Given the description of an element on the screen output the (x, y) to click on. 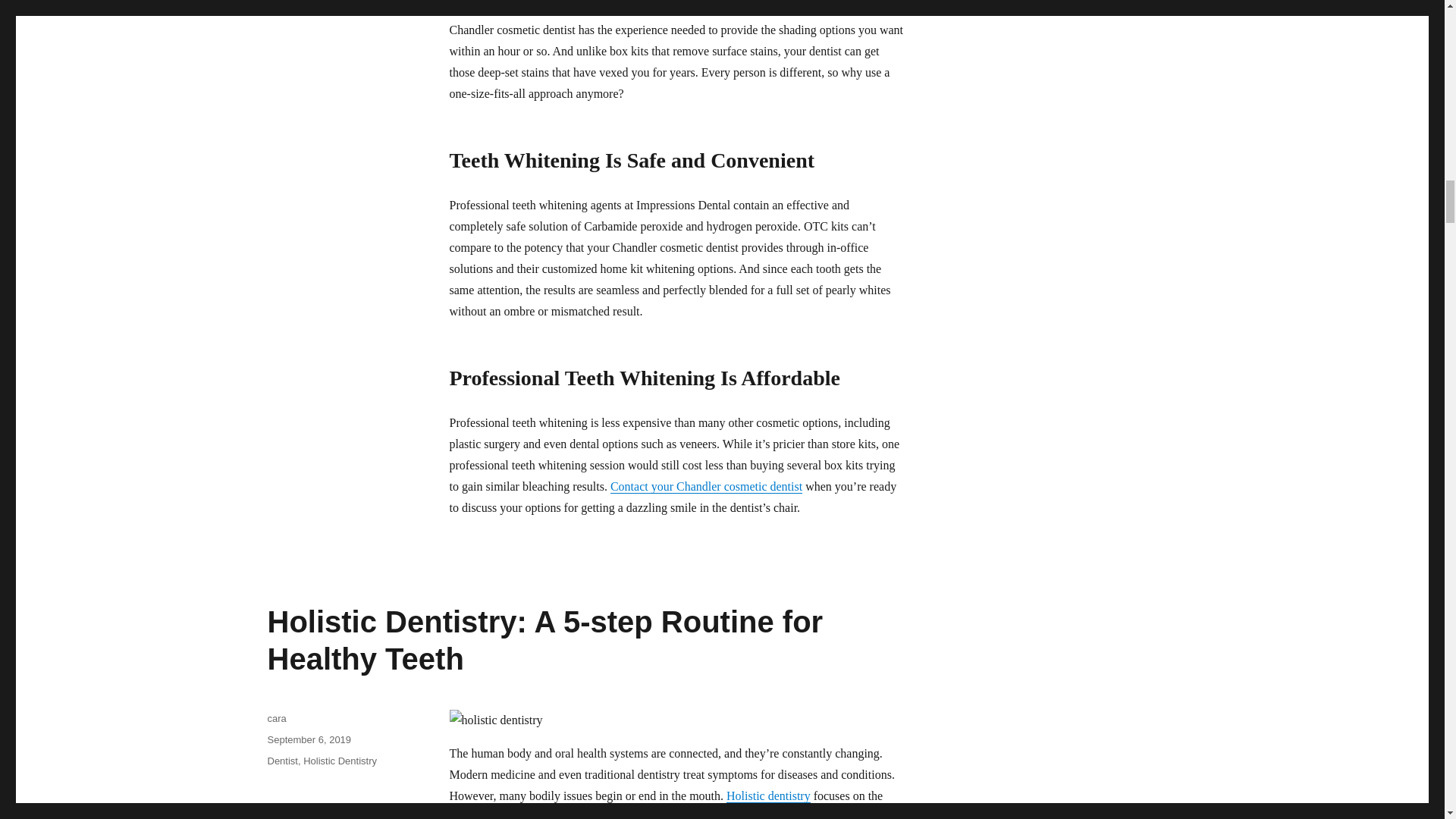
Holistic Dentistry (339, 760)
Holistic Dentistry: A 5-step Routine for Healthy Teeth (544, 640)
cara (275, 717)
Dentist (281, 760)
September 6, 2019 (308, 739)
Holistic dentistry (768, 795)
Contact your Chandler cosmetic dentist (706, 486)
